Given the description of an element on the screen output the (x, y) to click on. 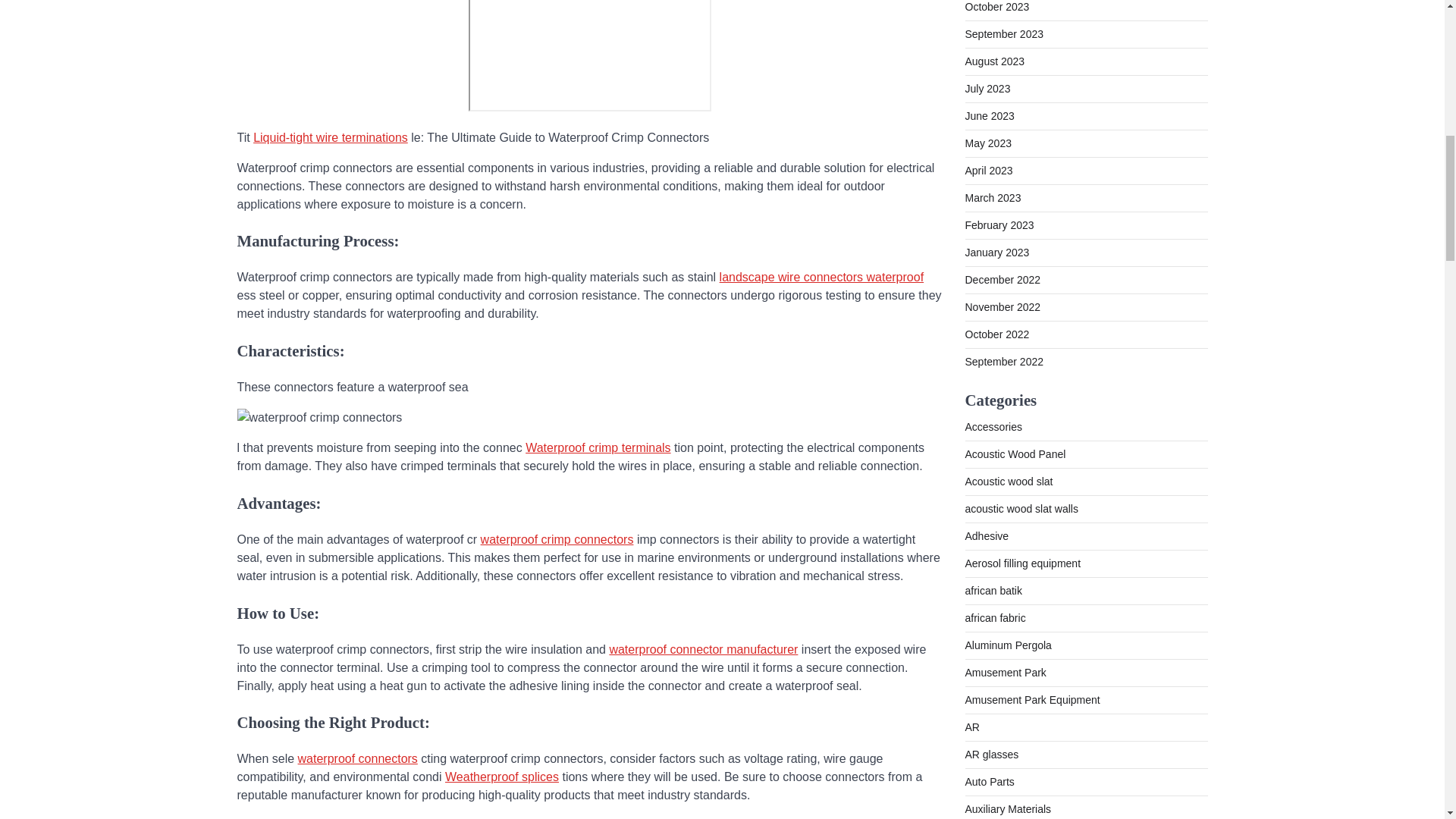
waterproof crimp connectors (556, 539)
Liquid-tight wire terminations (330, 137)
September 2023 (1003, 33)
landscape wire connectors waterproof (821, 277)
waterproof connectors (357, 758)
June 2023 (988, 115)
August 2023 (994, 61)
Waterproof crimp terminals (597, 447)
waterproof connector manufacturer (702, 649)
October 2023 (996, 6)
